Given the description of an element on the screen output the (x, y) to click on. 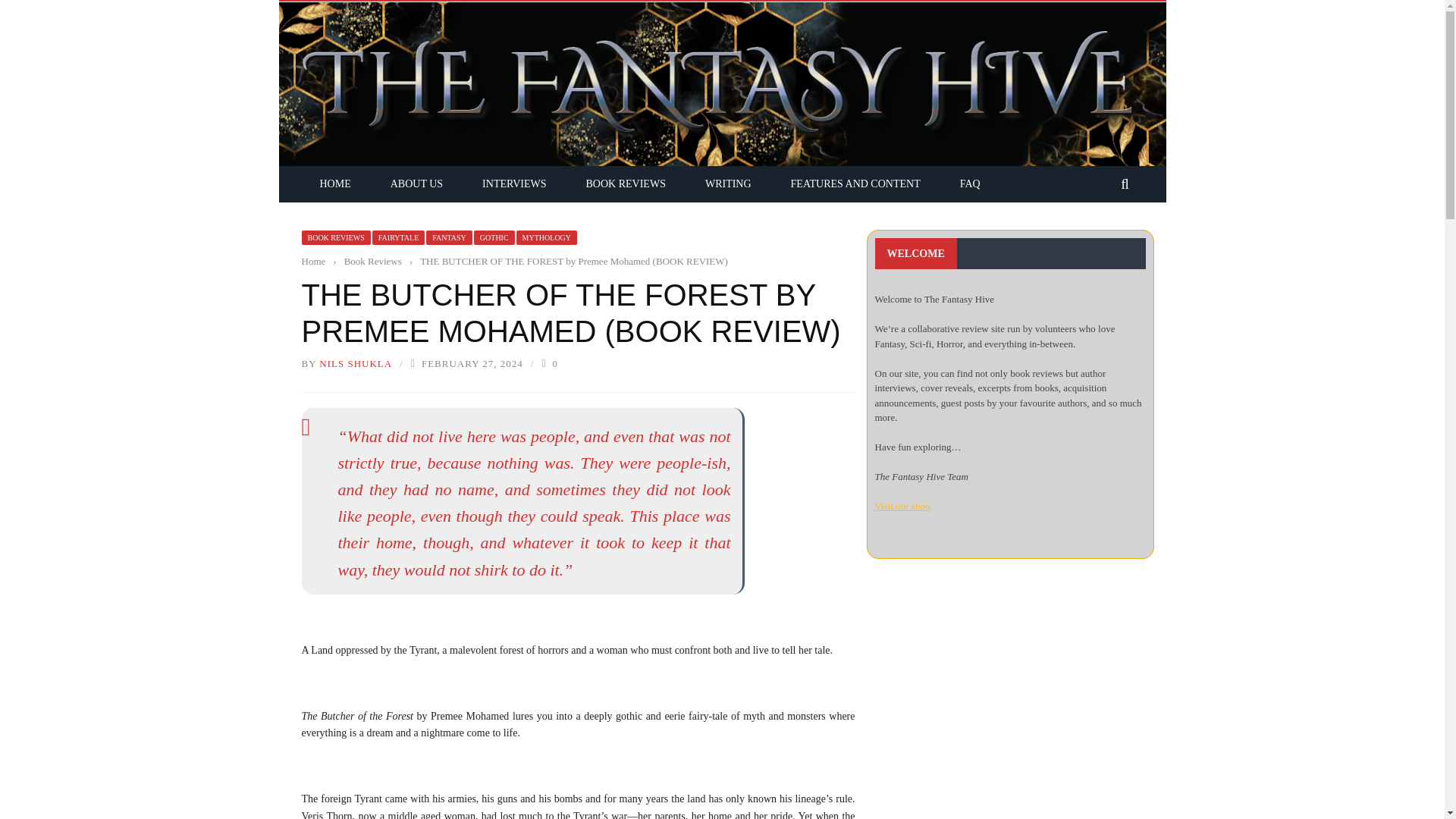
BOOK REVIEWS (625, 183)
ABOUT US (416, 183)
INTERVIEWS (514, 183)
HOME (335, 183)
